Given the description of an element on the screen output the (x, y) to click on. 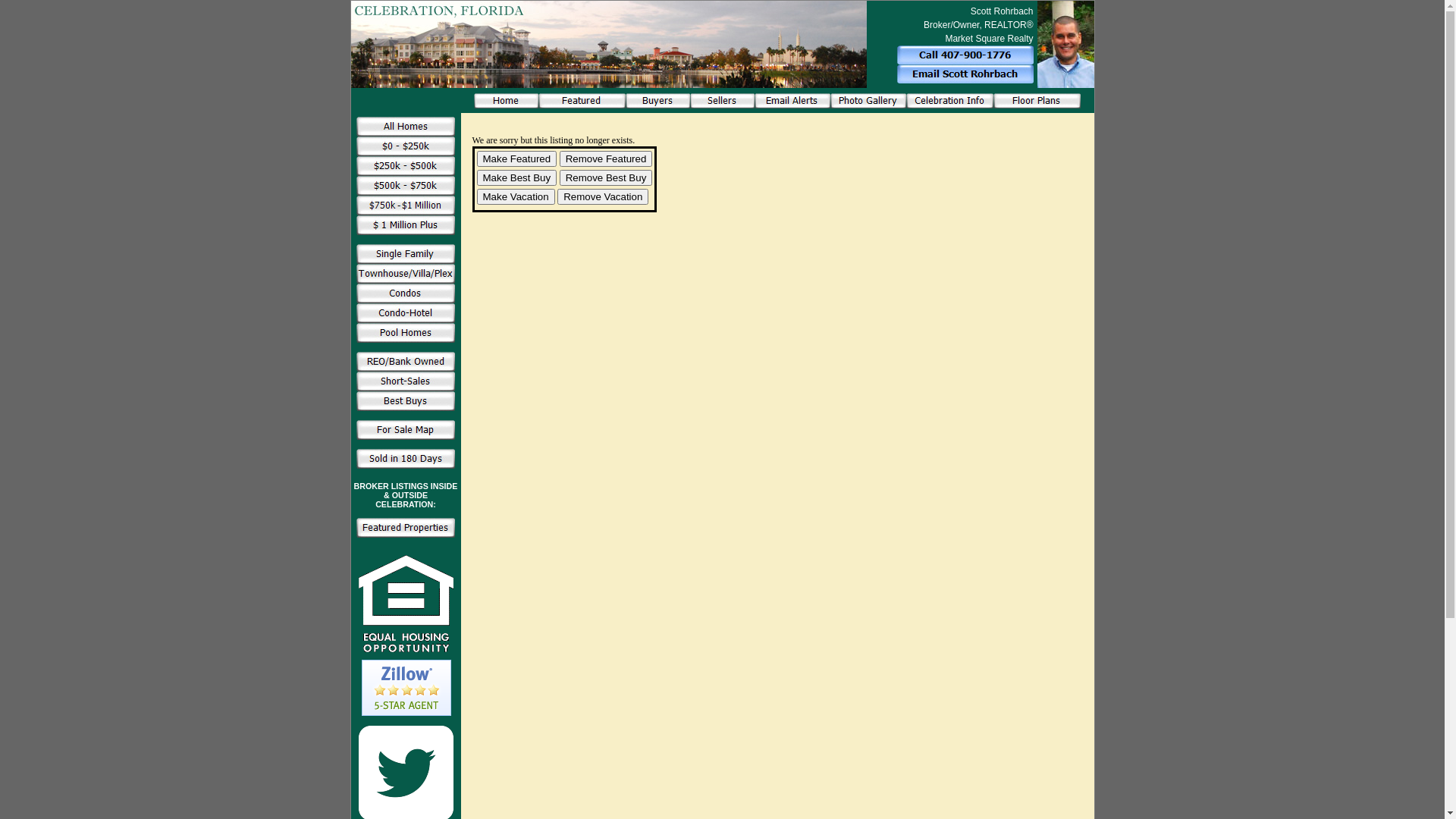
Remove Vacation Element type: text (602, 196)
Make Best Buy Element type: text (516, 177)
Remove Best Buy Element type: text (605, 177)
Remove Featured Element type: text (605, 158)
Make Vacation Element type: text (515, 196)
Make Featured Element type: text (516, 158)
